Given the description of an element on the screen output the (x, y) to click on. 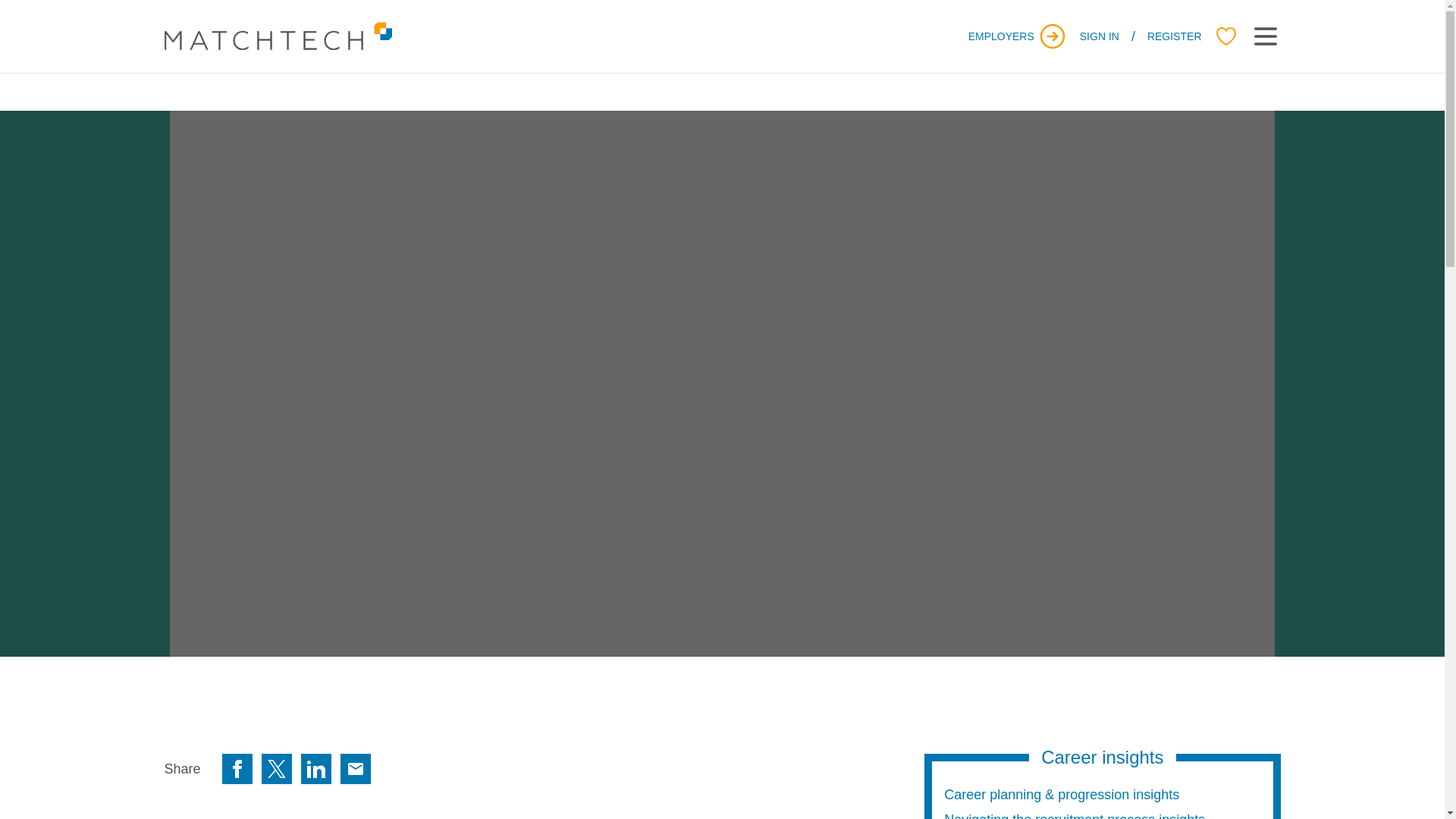
Home (277, 36)
Toggle menu (1264, 36)
SIGN IN (1099, 36)
REGISTER (1174, 36)
EMPLOYERS (1017, 36)
